Given the description of an element on the screen output the (x, y) to click on. 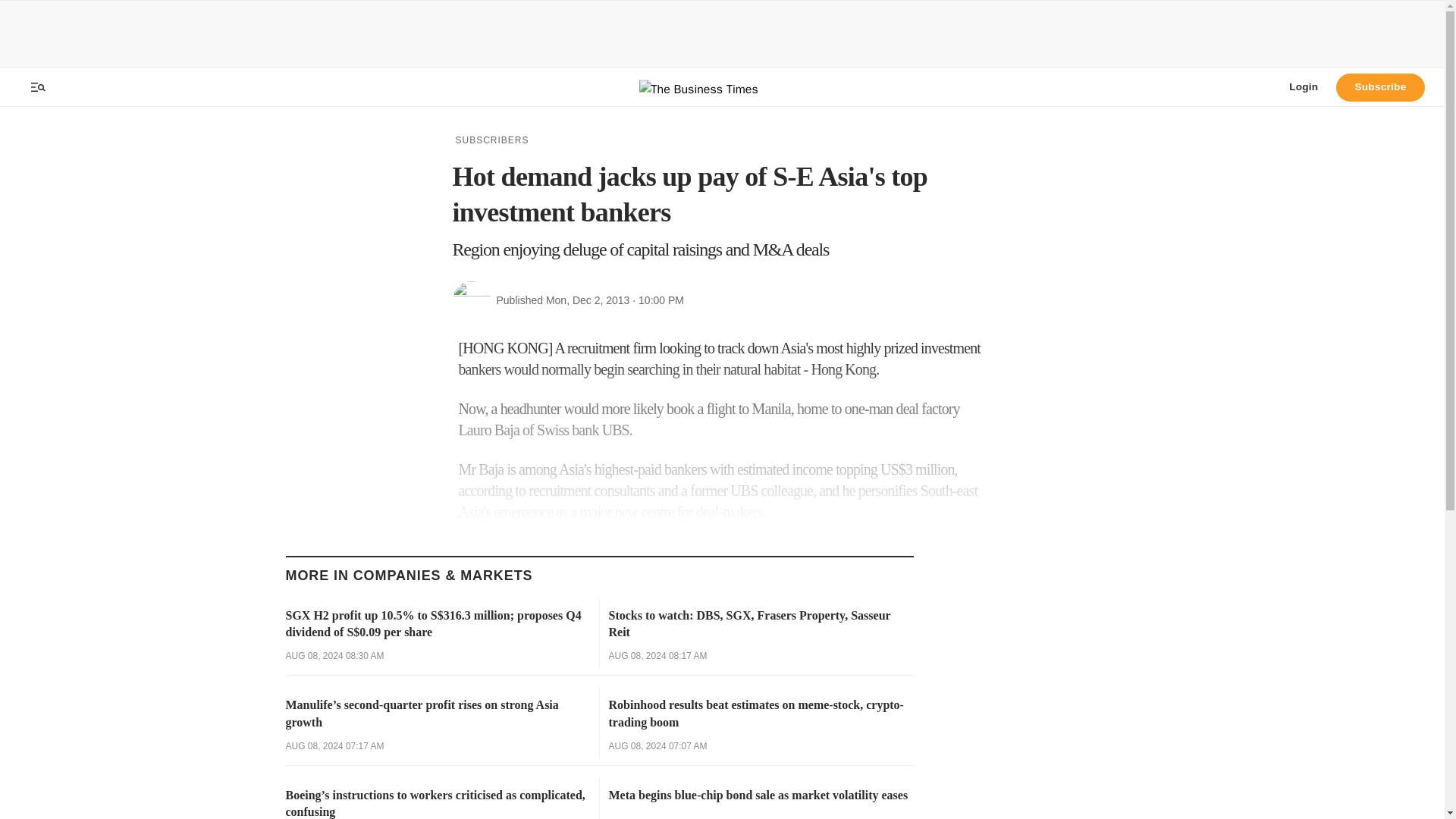
Meta begins blue-chip bond sale as market volatility eases (760, 795)
The Business Times (722, 87)
Stocks to watch: DBS, SGX, Frasers Property, Sasseur Reit (760, 624)
Subscribe (1379, 86)
Login (1302, 86)
